Given the description of an element on the screen output the (x, y) to click on. 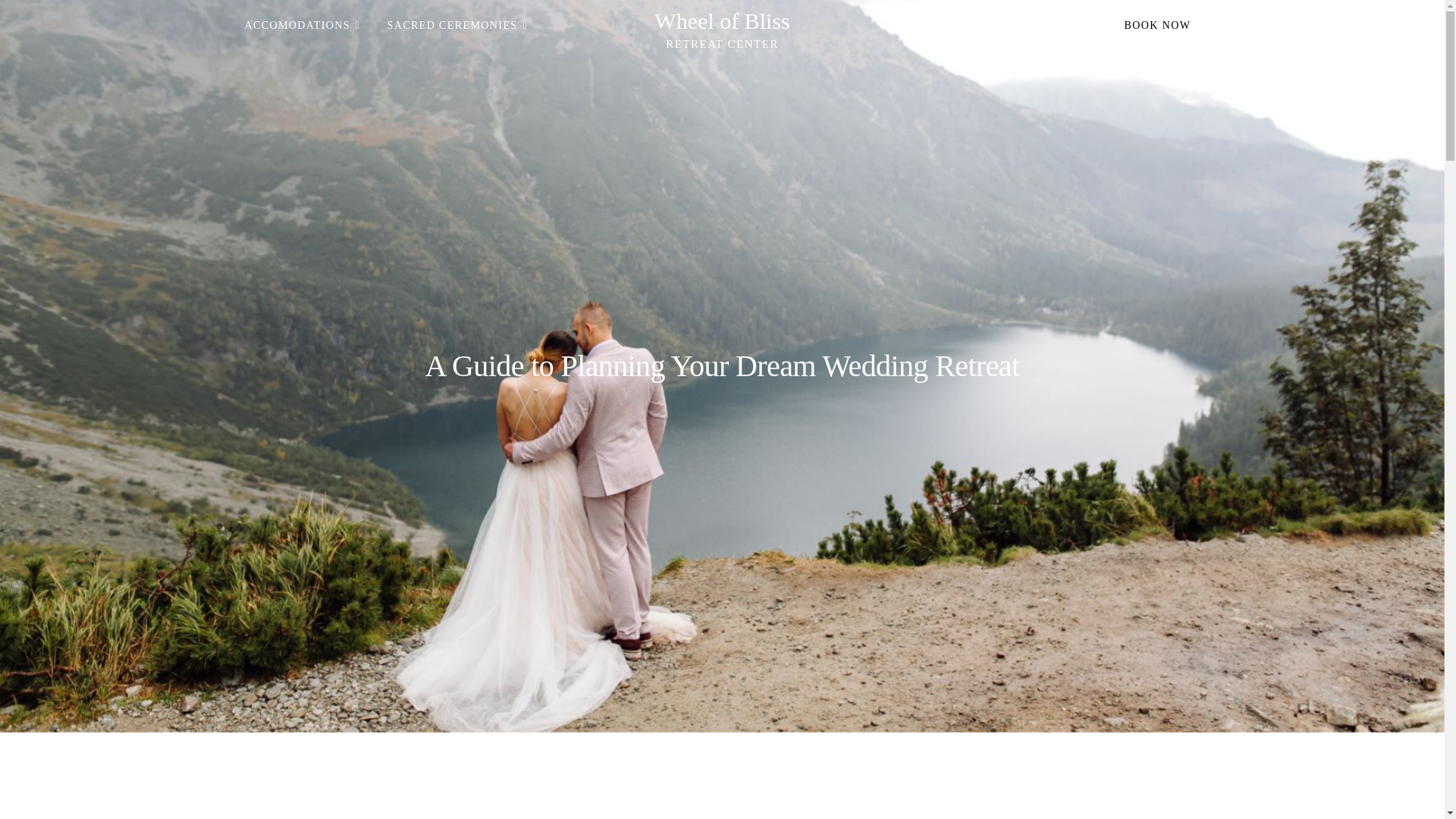
STORY (909, 25)
BOOK NOW (1157, 25)
REVIEWS (1048, 25)
SACRED CEREMONIES (457, 25)
ACCOMODATIONS (301, 25)
